Given the description of an element on the screen output the (x, y) to click on. 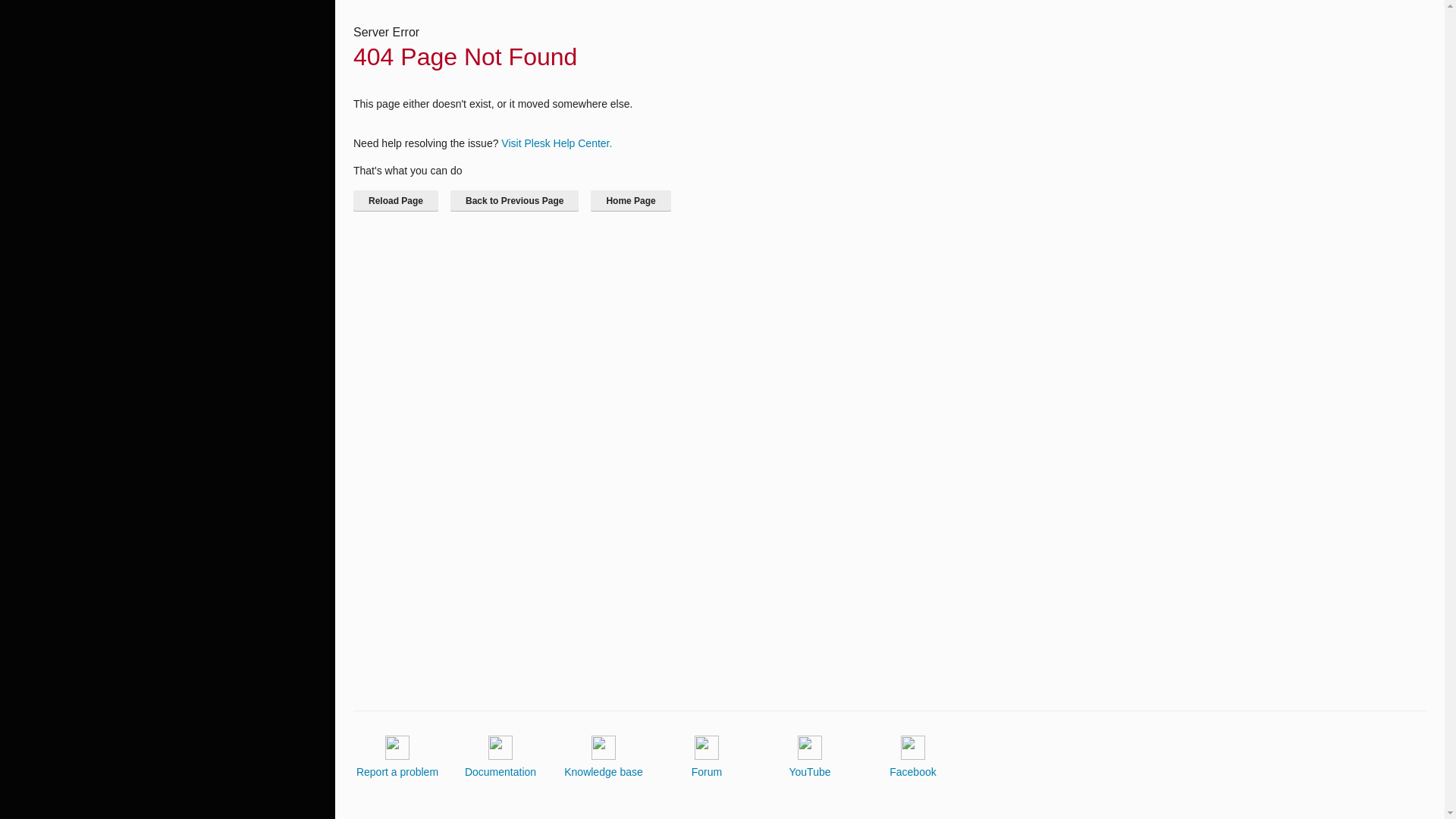
Documentation (500, 757)
Home Page (630, 200)
Back to Previous Page (513, 200)
Facebook (912, 757)
Reload Page (395, 200)
YouTube (809, 757)
Forum (706, 757)
Report a problem (397, 757)
Visit Plesk Help Center. (555, 143)
Knowledge base (603, 757)
